Given the description of an element on the screen output the (x, y) to click on. 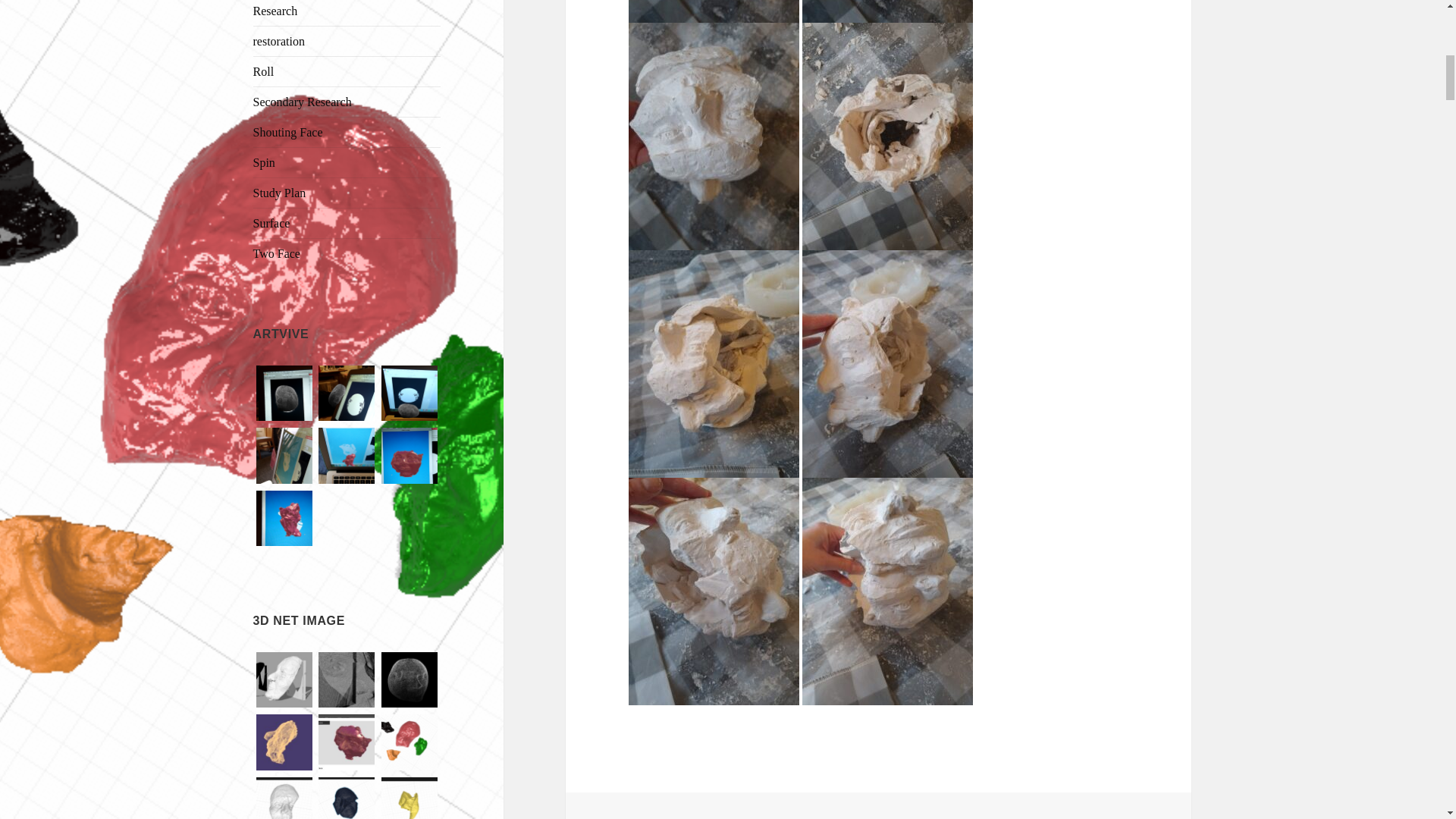
Research (275, 10)
Spin (264, 162)
restoration (278, 41)
Study Plan (279, 192)
Roll (264, 71)
Two Face (276, 253)
Surface (271, 223)
Shouting Face (288, 132)
Secondary Research (302, 101)
